Given the description of an element on the screen output the (x, y) to click on. 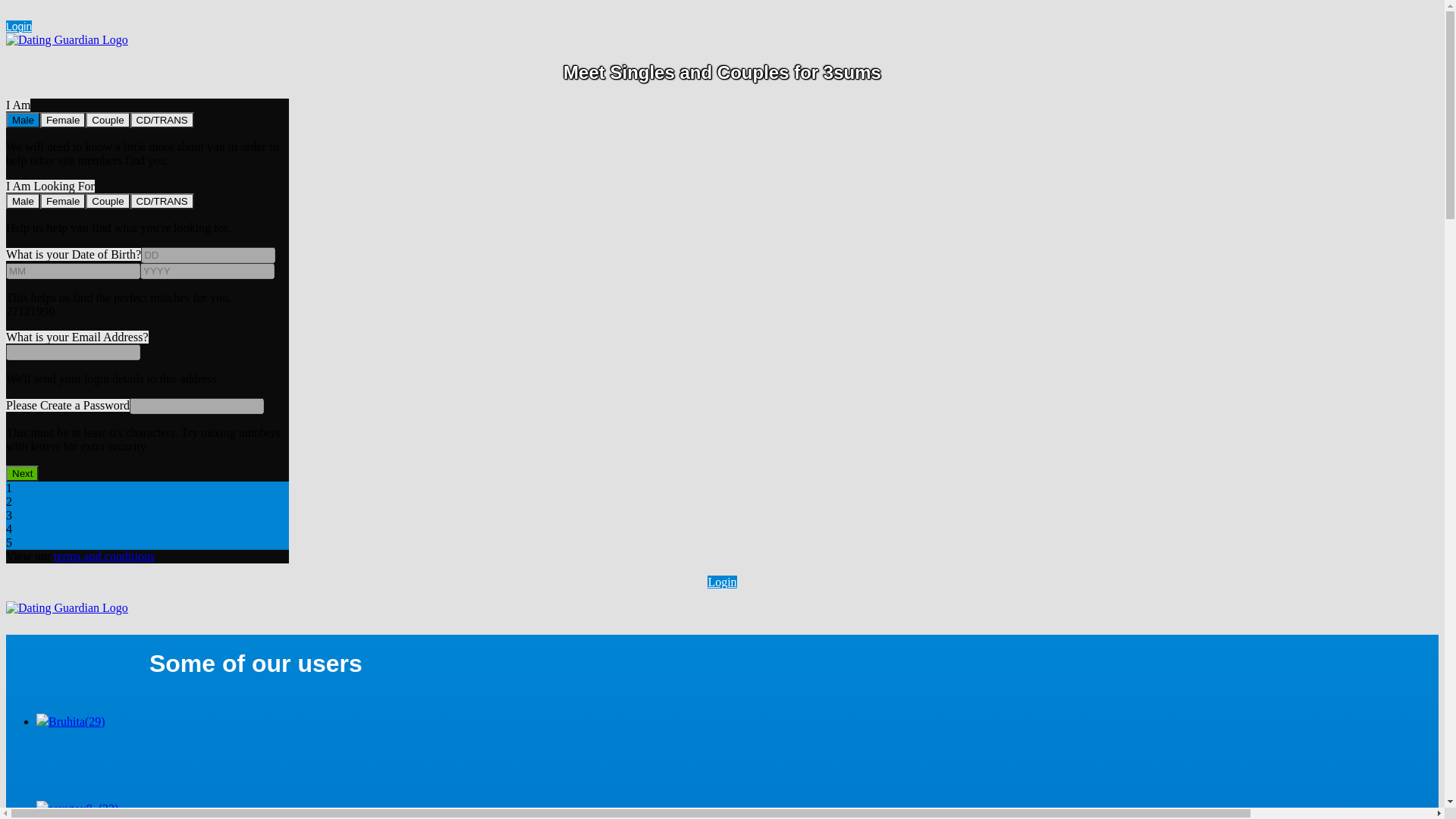
Couple Element type: text (107, 201)
Login Element type: text (18, 26)
Login Element type: text (721, 581)
terms and conditions Element type: text (103, 555)
Male Element type: text (23, 120)
CD/TRANS Element type: text (162, 120)
sexytoy8..(32) Element type: text (737, 809)
Bruhita(29) Element type: text (737, 722)
Female Element type: text (62, 201)
Male Element type: text (23, 201)
Couple Element type: text (107, 120)
Female Element type: text (62, 120)
CD/TRANS Element type: text (162, 201)
